Given the description of an element on the screen output the (x, y) to click on. 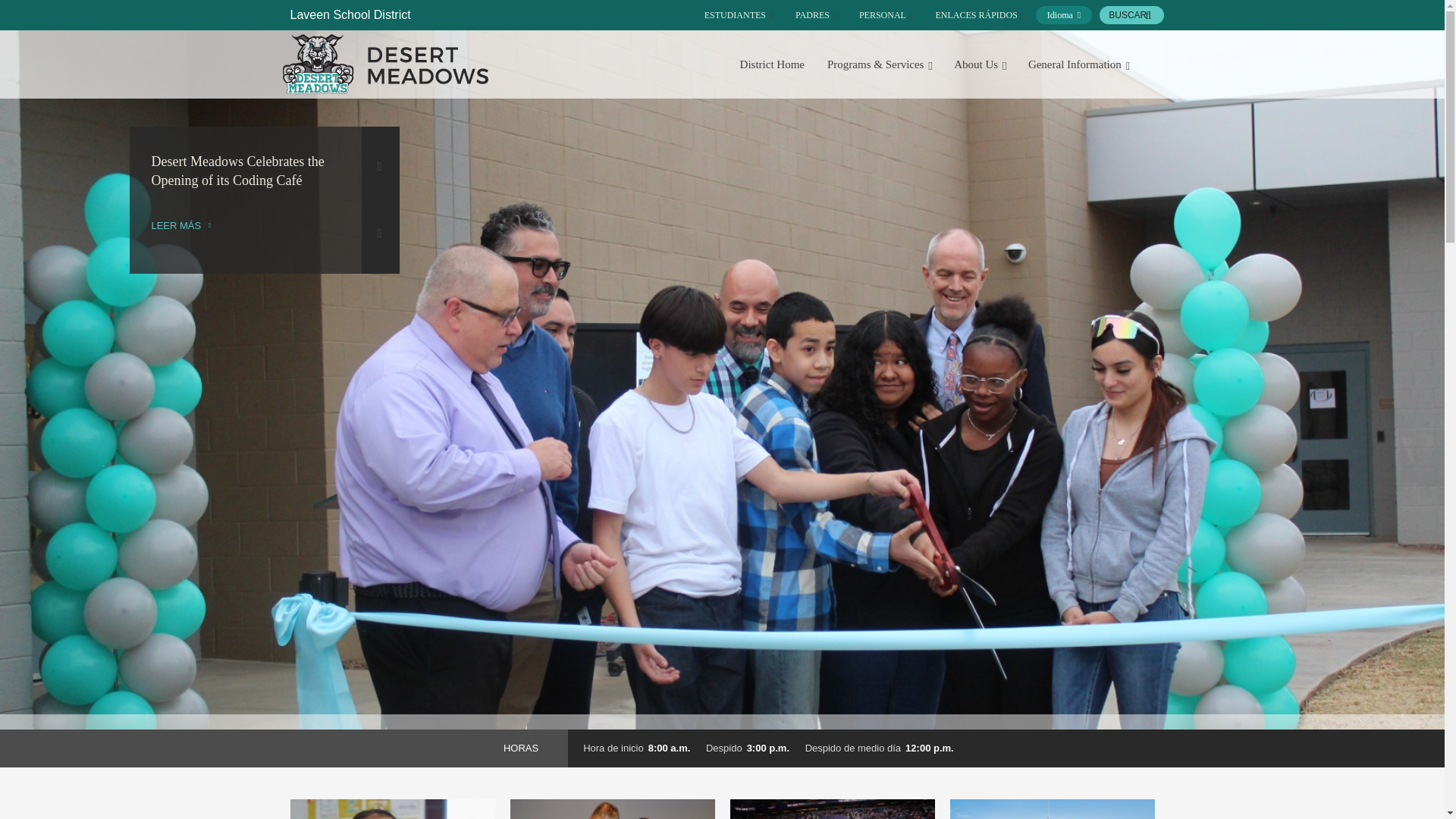
Laveen School District (349, 14)
Desert Meadows School (384, 64)
District Home (772, 64)
Personal (885, 15)
ESTUDIANTES (738, 15)
PERSONAL (885, 15)
Padres (815, 15)
Estudiantes (738, 15)
PADRES (815, 15)
Idioma (1063, 14)
